Given the description of an element on the screen output the (x, y) to click on. 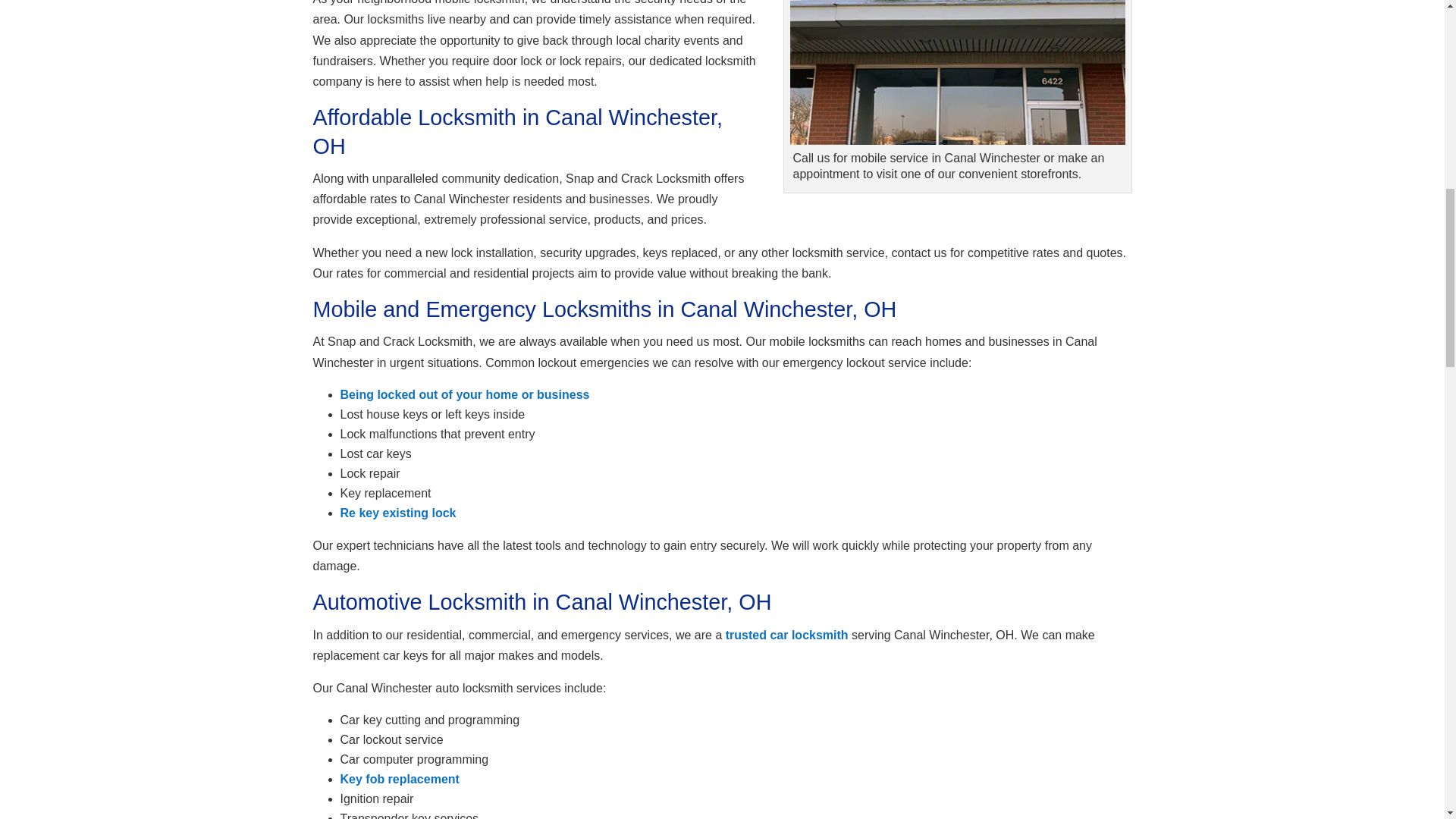
image of the Columbus, OH storefront (957, 140)
